Given the description of an element on the screen output the (x, y) to click on. 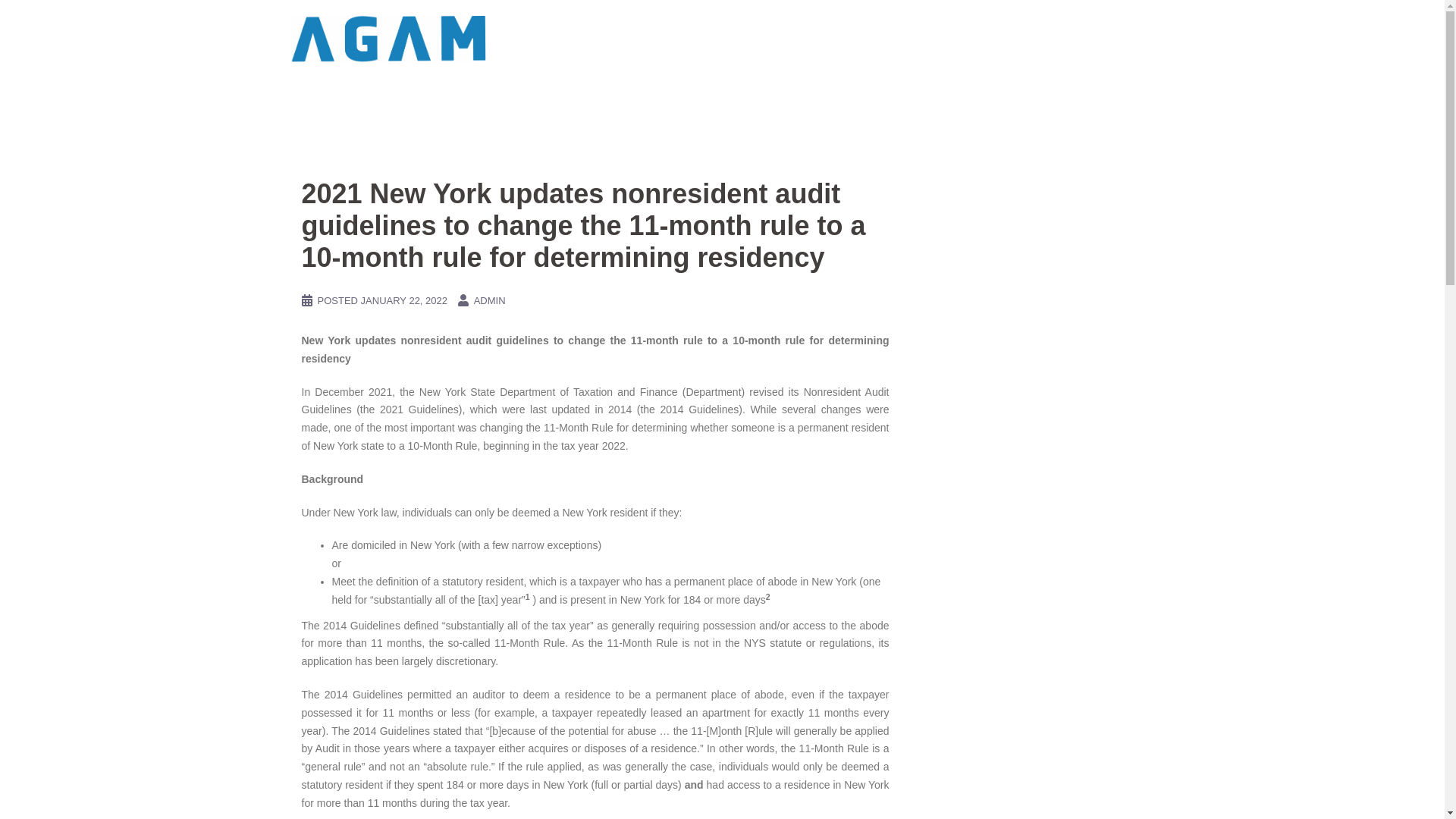
Why us ? (768, 38)
Industries (702, 38)
AGAM CPA (389, 37)
ADMIN (489, 300)
Services (637, 38)
About us (832, 38)
Our Values (969, 38)
Our Team (898, 38)
Our Vision (1118, 38)
JANUARY 22, 2022 (403, 300)
Home (581, 38)
Our Mission (1045, 38)
